Given the description of an element on the screen output the (x, y) to click on. 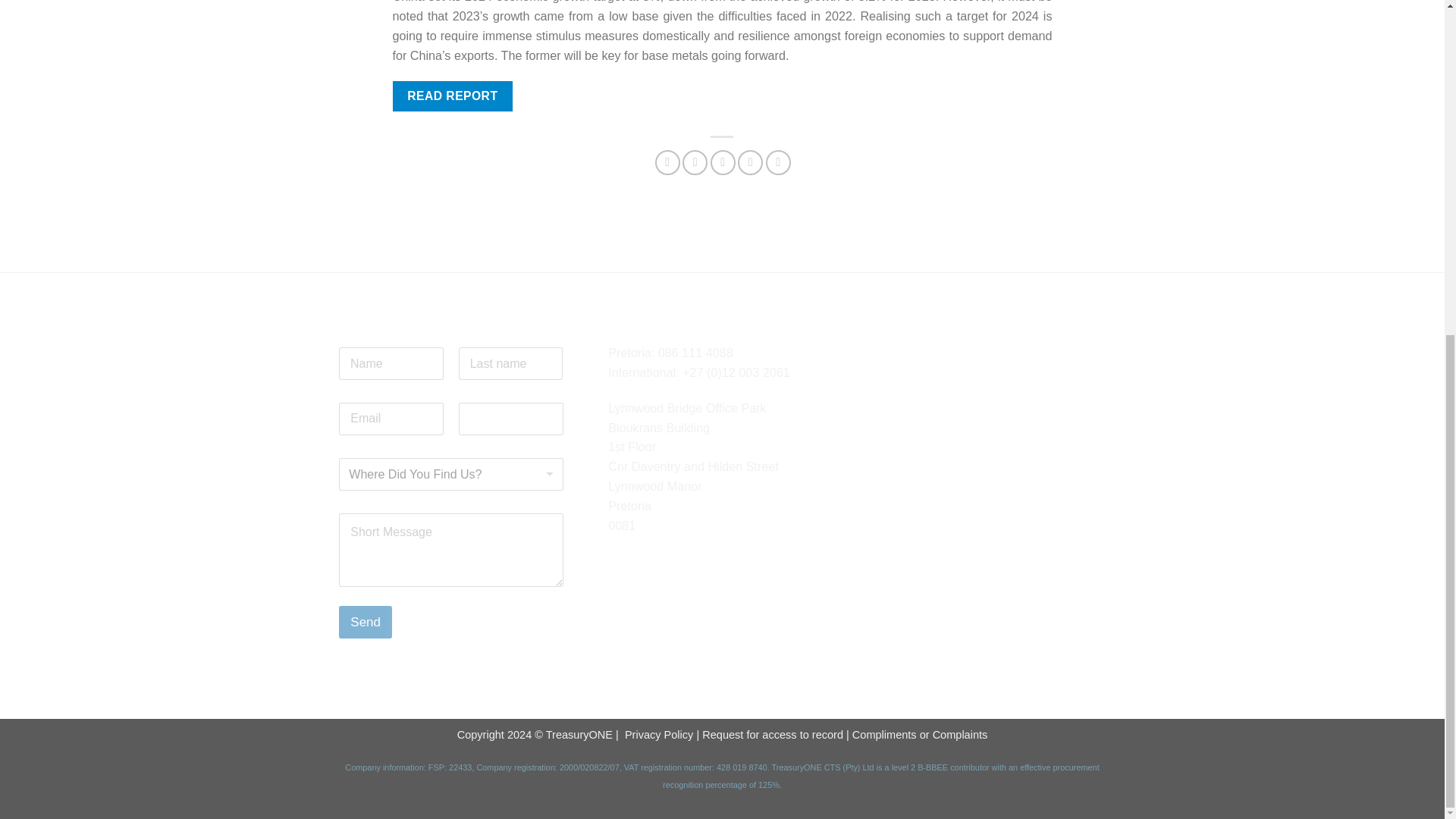
Share on Facebook (667, 162)
Privacy Policy (658, 734)
Send (365, 622)
Follow on Facebook (622, 564)
Pin on Pinterest (750, 162)
Share on Twitter (694, 162)
Share on LinkedIn (777, 162)
Request for access to record (772, 734)
Email to a Friend (722, 162)
Follow on LinkedIn (677, 564)
